Given the description of an element on the screen output the (x, y) to click on. 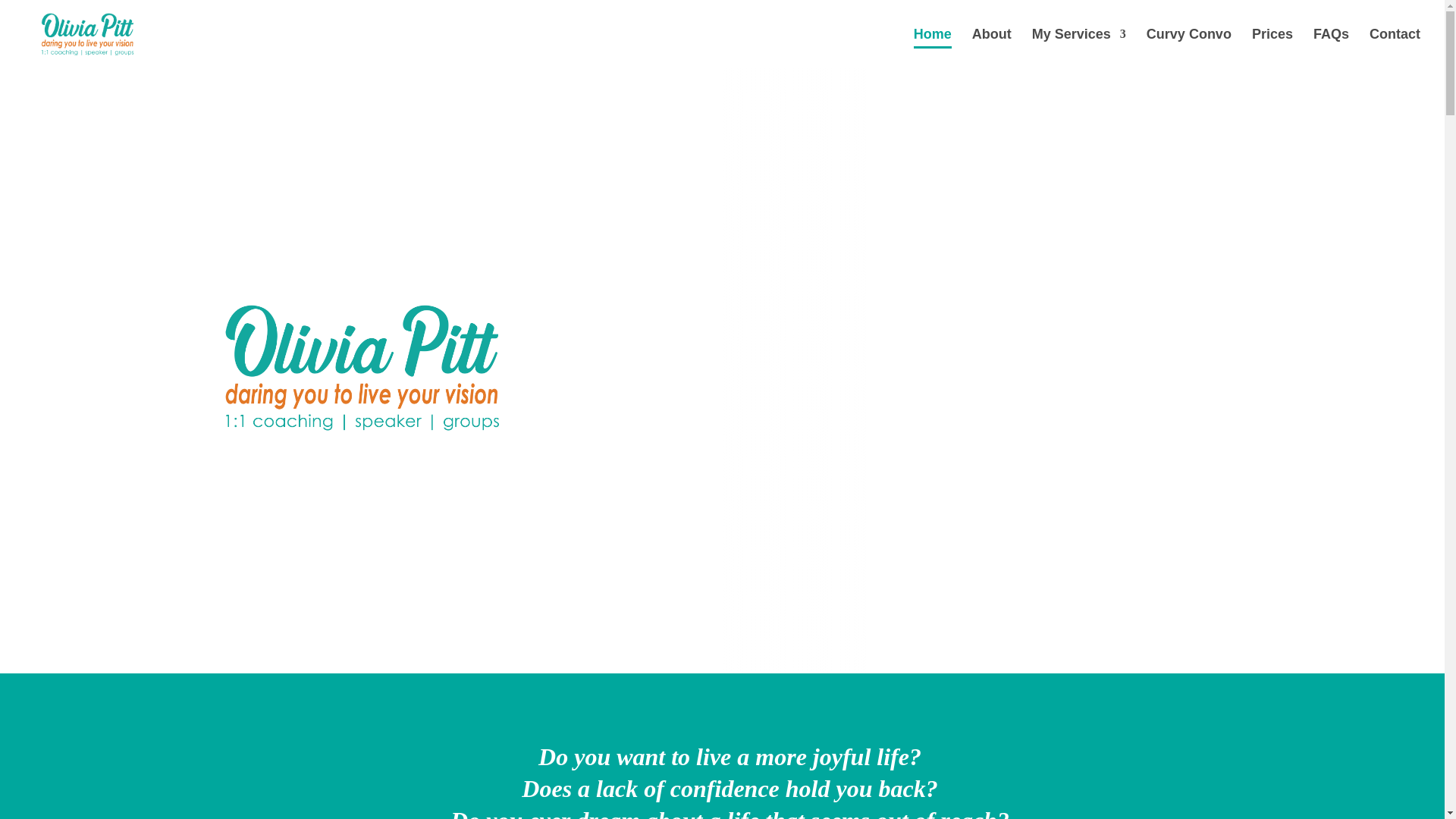
Prices (1272, 47)
FAQs (1331, 47)
About (991, 47)
Curvy Convo (1189, 47)
Home (933, 47)
Contact (1395, 47)
My Services (1078, 47)
Olivia Pitt Coaching Logo-01 (360, 366)
